Given the description of an element on the screen output the (x, y) to click on. 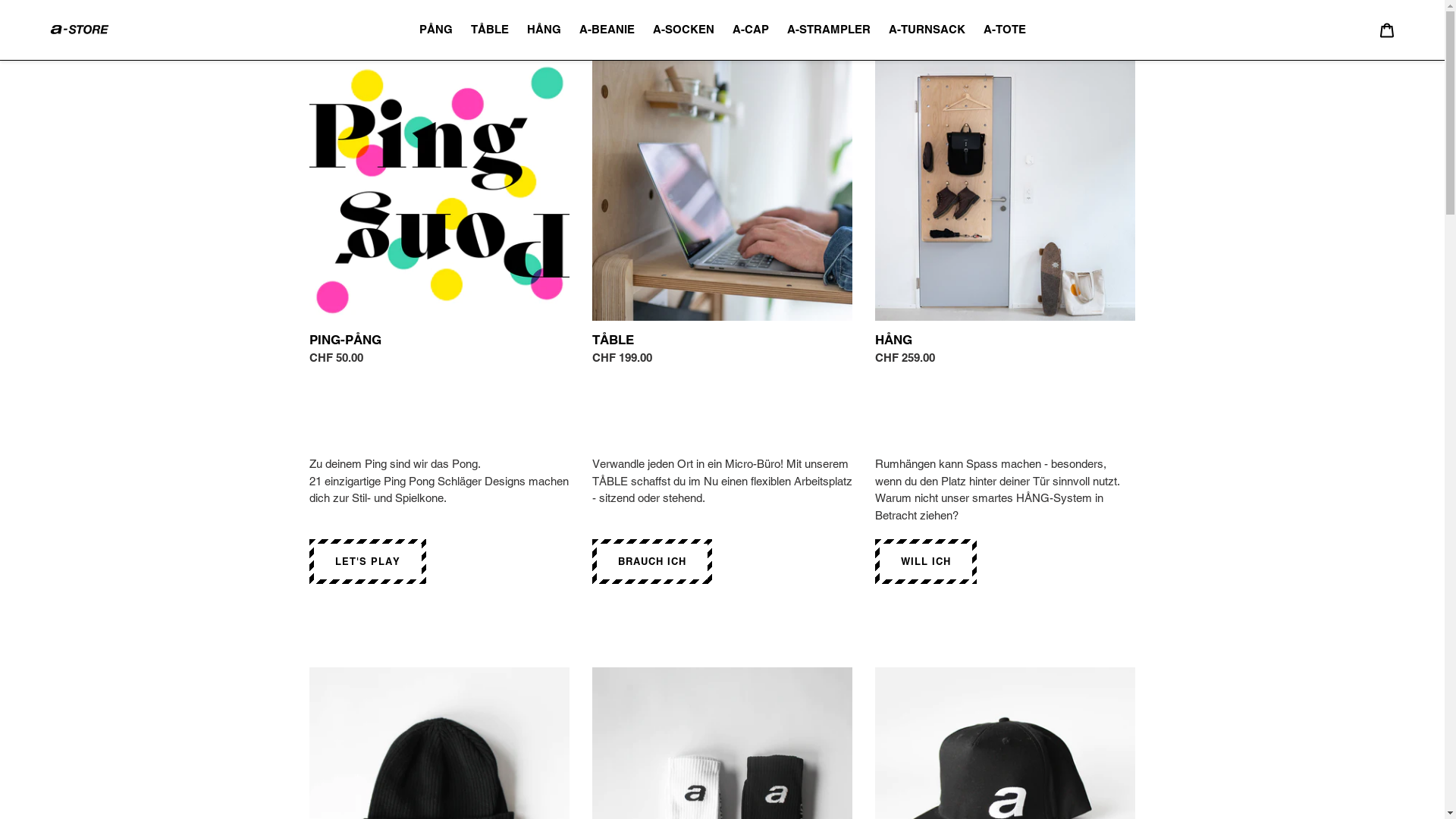
A-TOTE Element type: text (1003, 29)
WILL ICH Element type: text (925, 561)
LET'S PLAY Element type: text (367, 561)
Suchen Element type: text (1366, 29)
A-STRAMPLER Element type: text (828, 29)
A-BEANIE Element type: text (606, 29)
A-CAP Element type: text (750, 29)
A-TURNSACK Element type: text (926, 29)
BRAUCH ICH Element type: text (652, 561)
A-SOCKEN Element type: text (682, 29)
Warenkorb Element type: text (1386, 29)
